Given the description of an element on the screen output the (x, y) to click on. 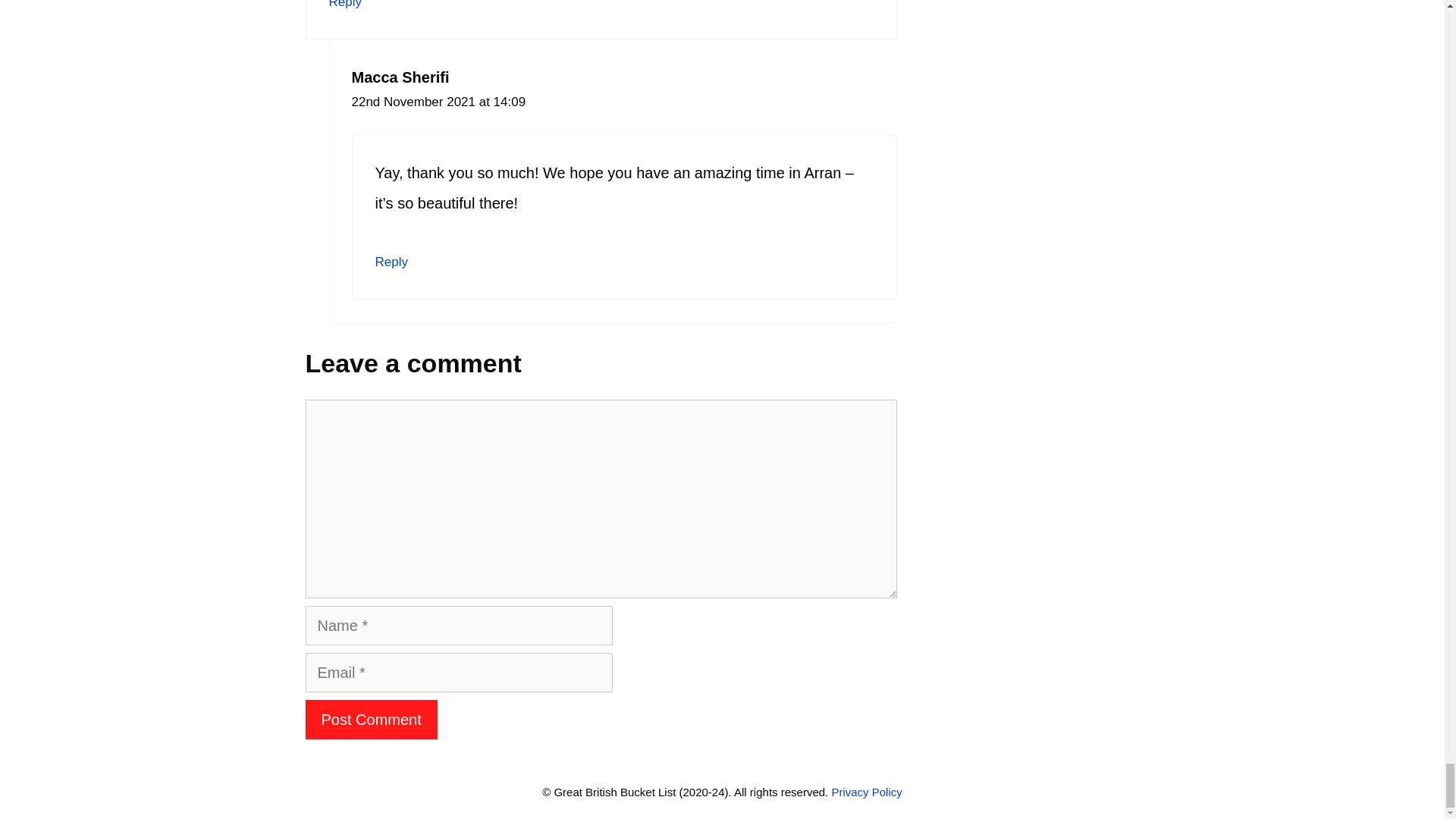
Post Comment (370, 719)
